Given the description of an element on the screen output the (x, y) to click on. 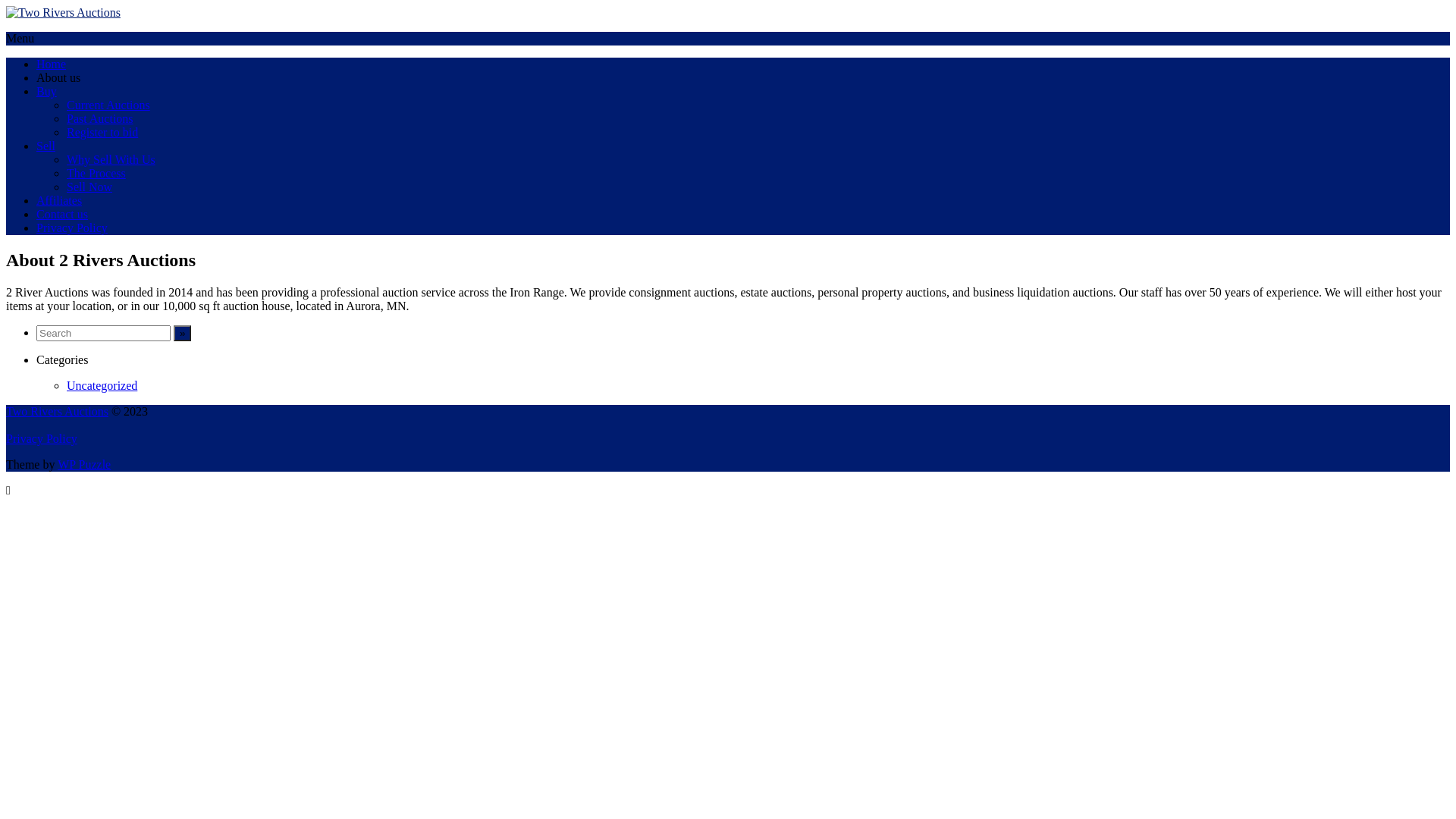
The Process Element type: text (95, 172)
Register to bid Element type: text (102, 131)
Why Sell With Us Element type: text (110, 159)
Contact us Element type: text (61, 213)
Two Rivers Auctions Element type: text (57, 410)
Home Element type: text (50, 63)
Privacy Policy Element type: text (71, 227)
Affiliates Element type: text (58, 200)
Buy Element type: text (46, 90)
Sell Element type: text (45, 145)
Sell Now Element type: text (89, 186)
Privacy Policy Element type: text (41, 438)
WP Puzzle Element type: text (83, 464)
Two Rivers Auctions Element type: hover (63, 12)
Current Auctions Element type: text (108, 104)
Uncategorized Element type: text (101, 385)
Past Auctions Element type: text (99, 118)
